Given the description of an element on the screen output the (x, y) to click on. 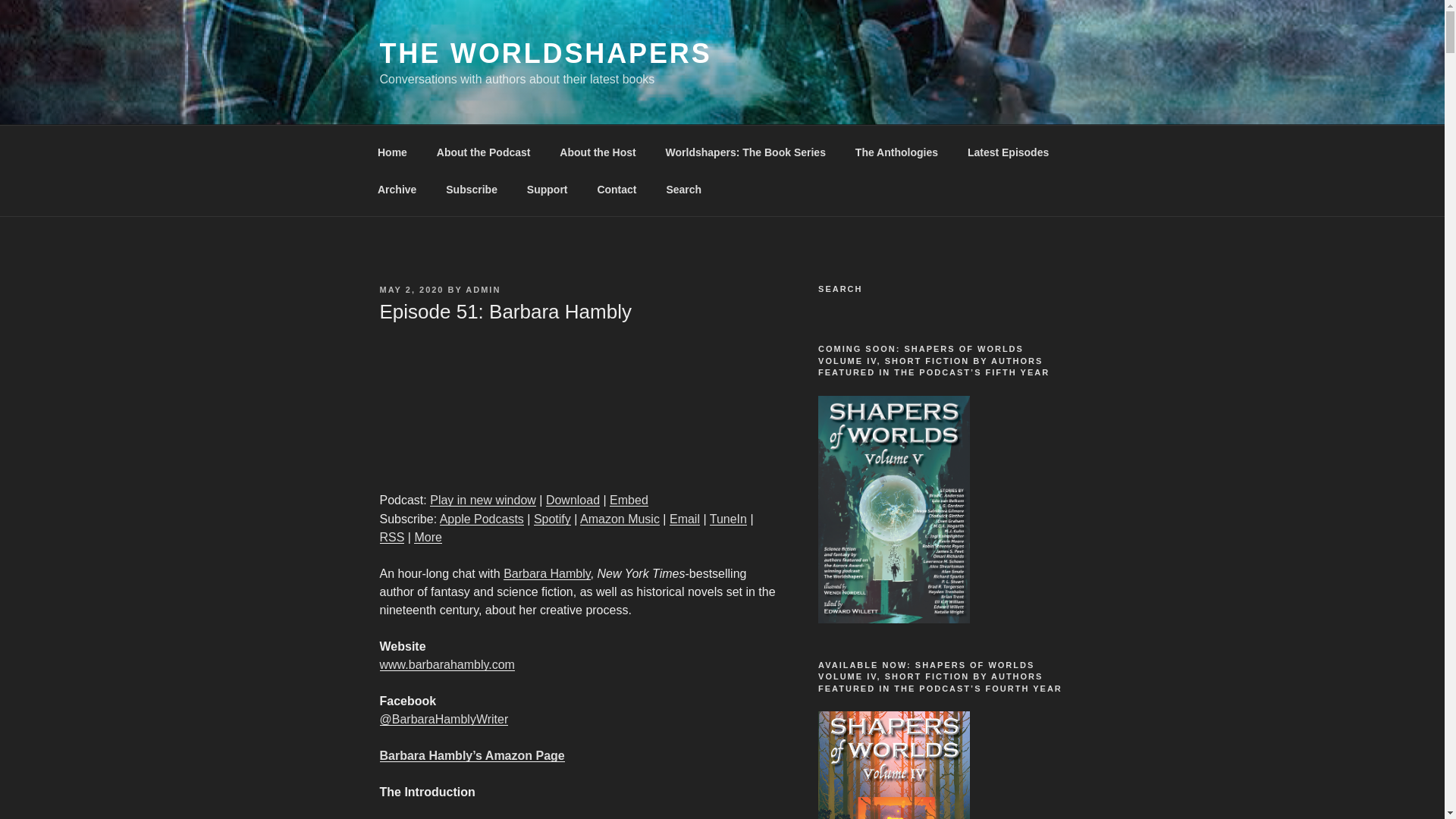
Play in new window (482, 499)
Support (546, 189)
About the Host (598, 151)
Subscribe on Spotify (552, 518)
Blubrry Podcast Player (577, 405)
Amazon Music (619, 518)
Subscribe on TuneIn (728, 518)
Home (392, 151)
Subscribe on Apple Podcasts (481, 518)
Worldshapers: The Book Series (745, 151)
MAY 2, 2020 (411, 289)
Subscribe on Amazon Music (619, 518)
Download (572, 499)
Search (683, 189)
Subscribe by Email (684, 518)
